Given the description of an element on the screen output the (x, y) to click on. 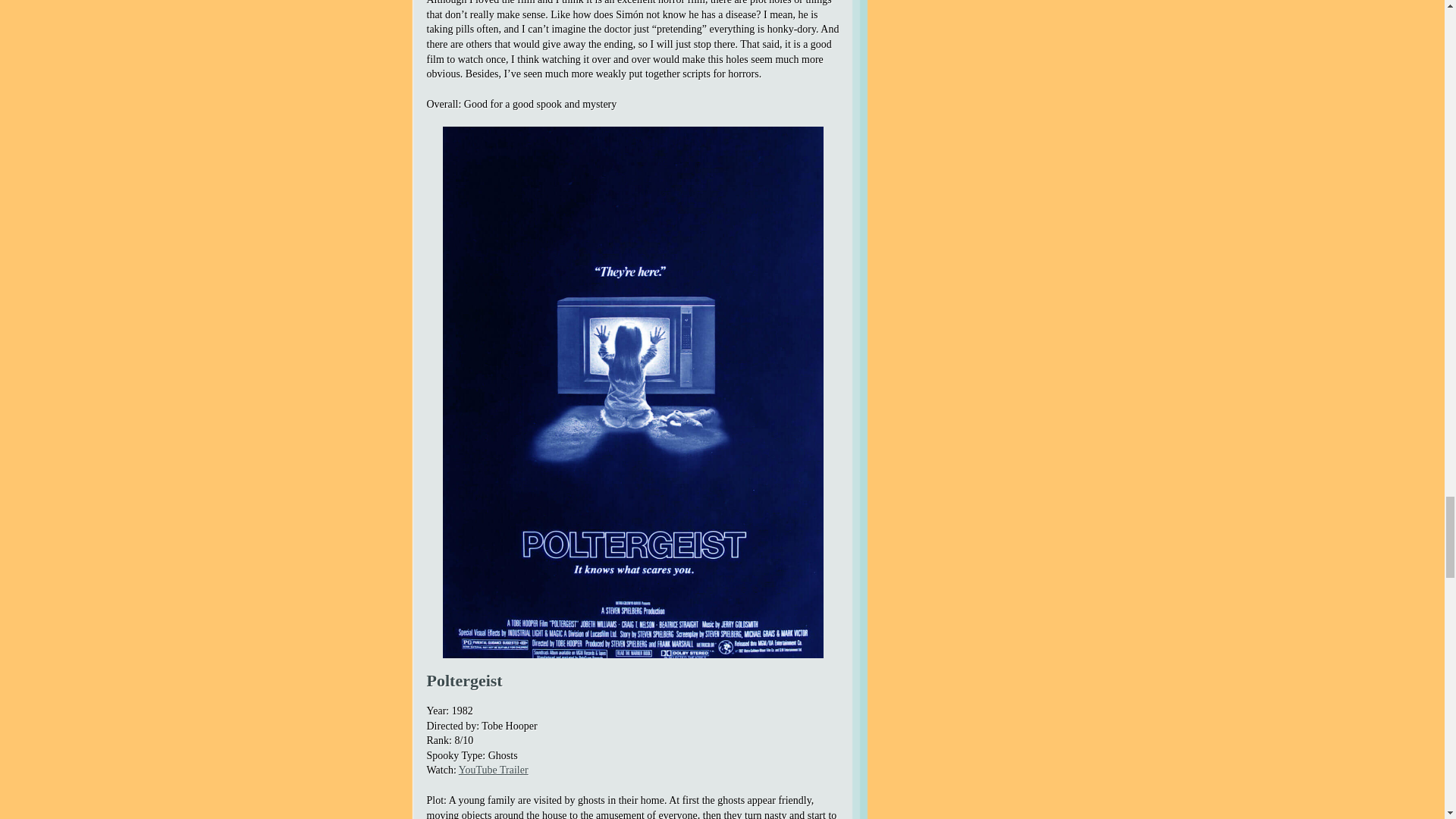
YouTube Trailer (493, 769)
